Given the description of an element on the screen output the (x, y) to click on. 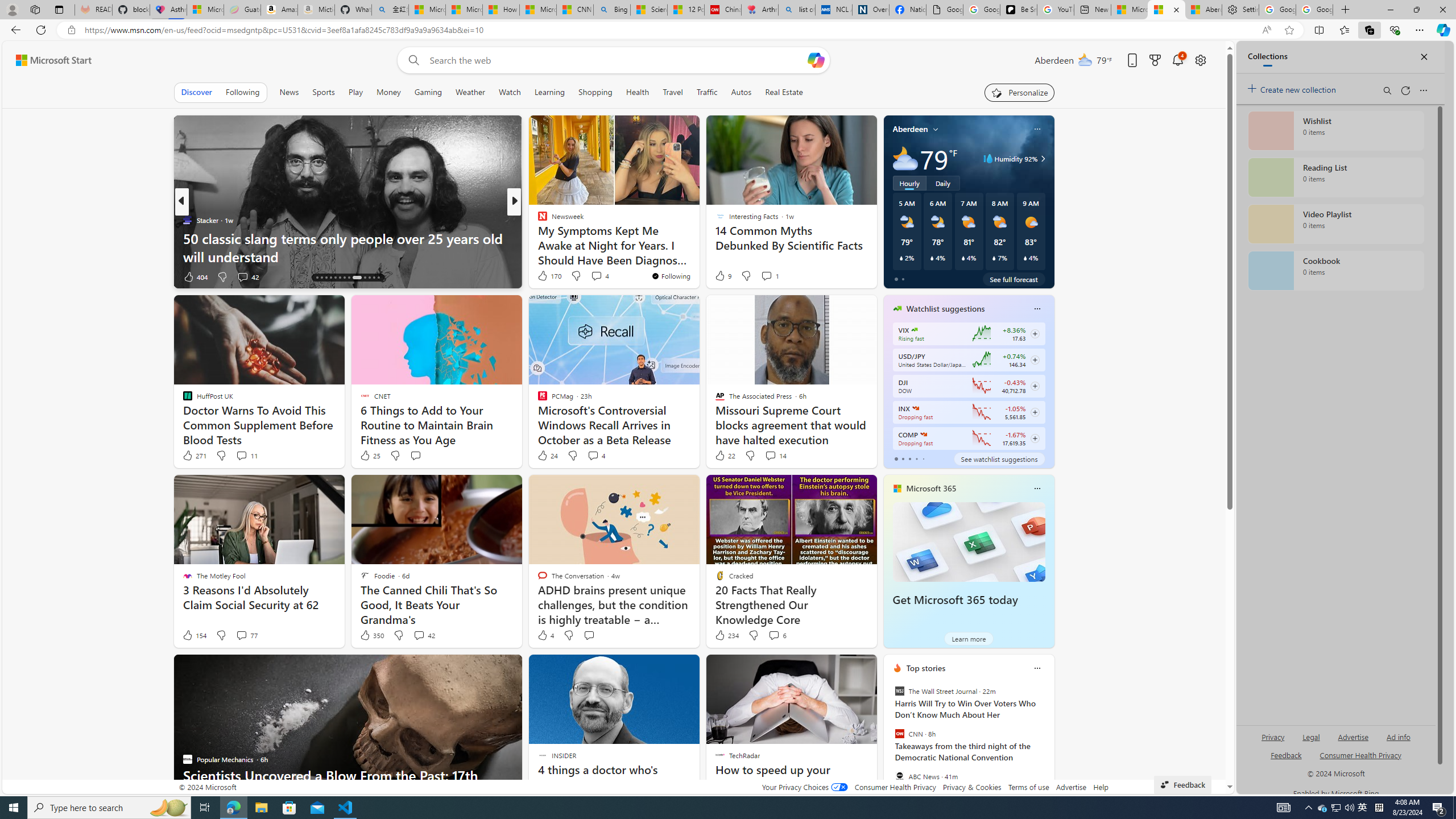
AutomationID: tab-17 (330, 277)
You're following FOX News (143, 279)
ABC News (898, 775)
